Given the description of an element on the screen output the (x, y) to click on. 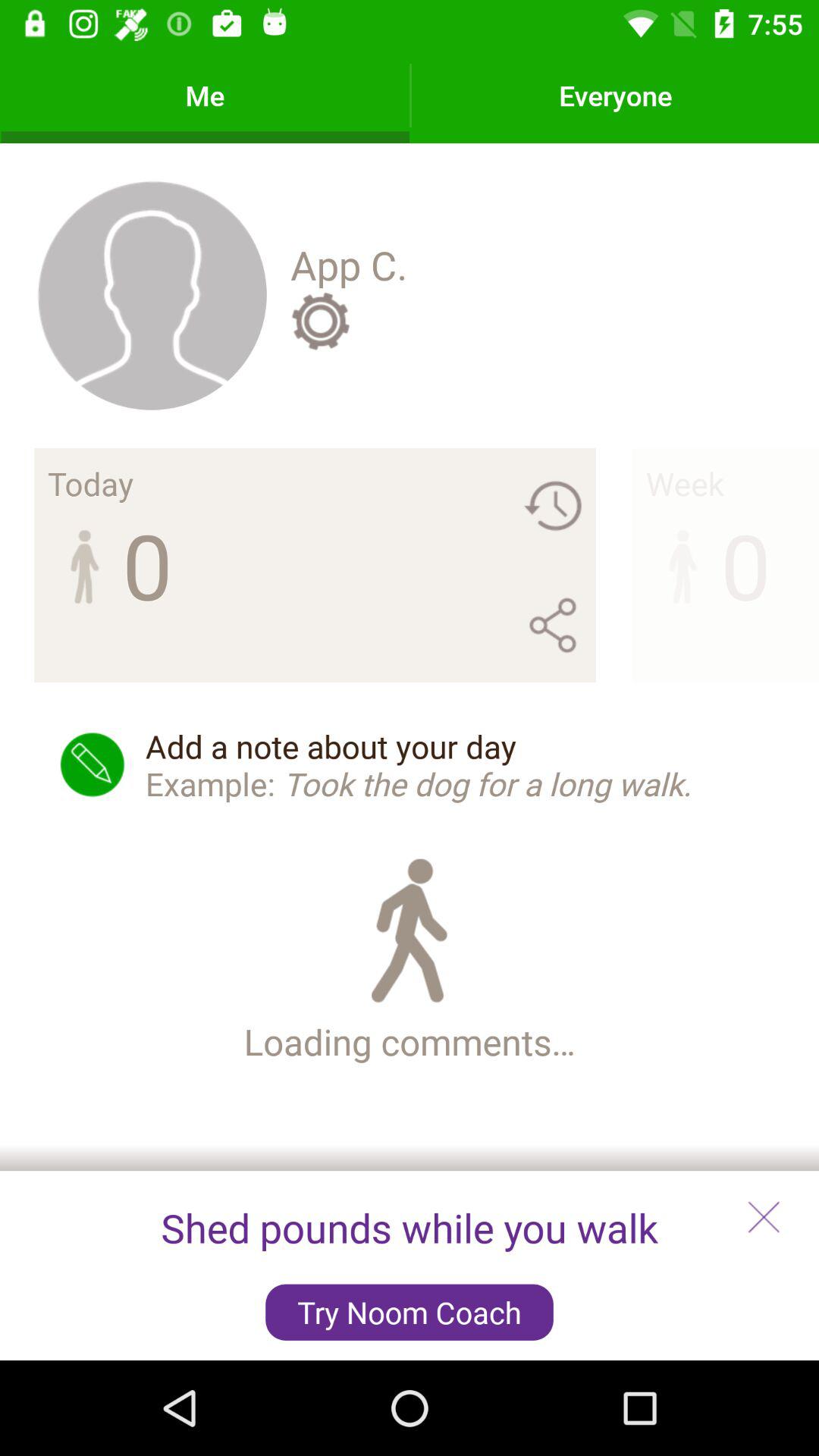
select a human icon which is below week on the page (683, 564)
